Given the description of an element on the screen output the (x, y) to click on. 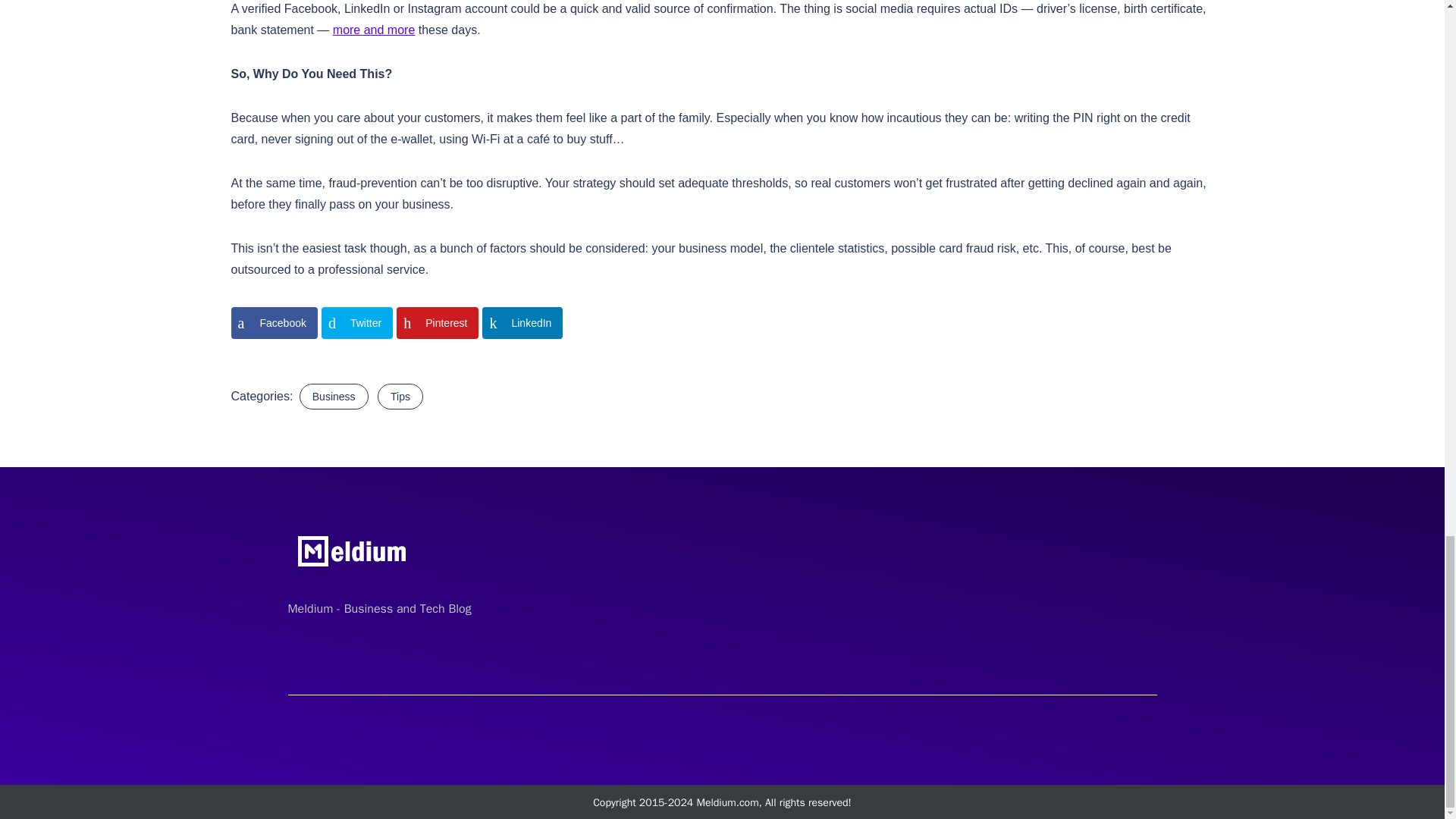
Share on LinkedIn (521, 323)
Share on Facebook (273, 323)
more and more (373, 29)
Share on Pinterest (437, 323)
Share on Twitter (357, 323)
